Given the description of an element on the screen output the (x, y) to click on. 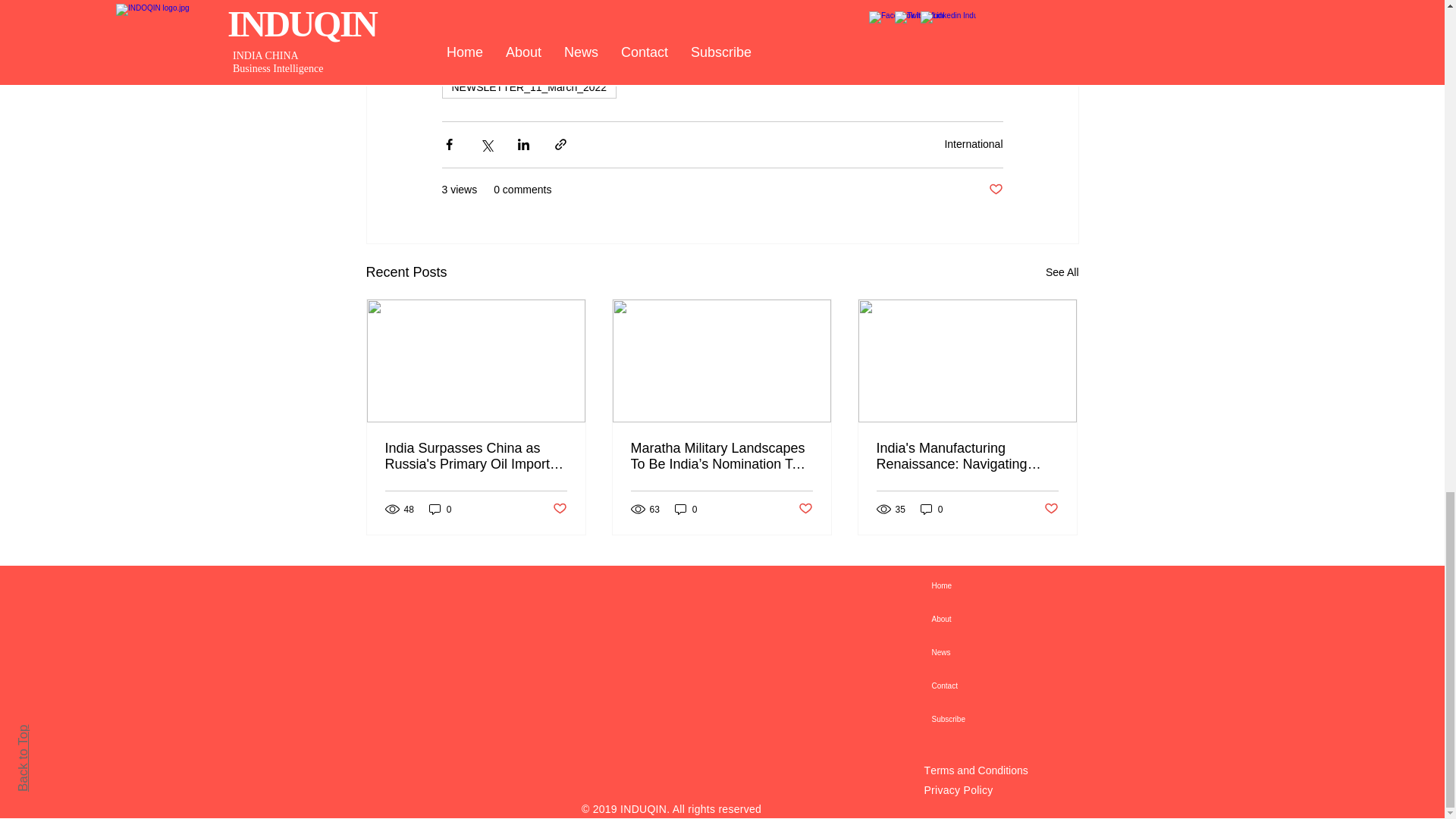
Post not marked as liked (1050, 508)
0 (931, 509)
0 (685, 509)
0 (440, 509)
Home (1019, 585)
Post not marked as liked (804, 508)
About (1019, 619)
Post not marked as liked (558, 508)
